Given the description of an element on the screen output the (x, y) to click on. 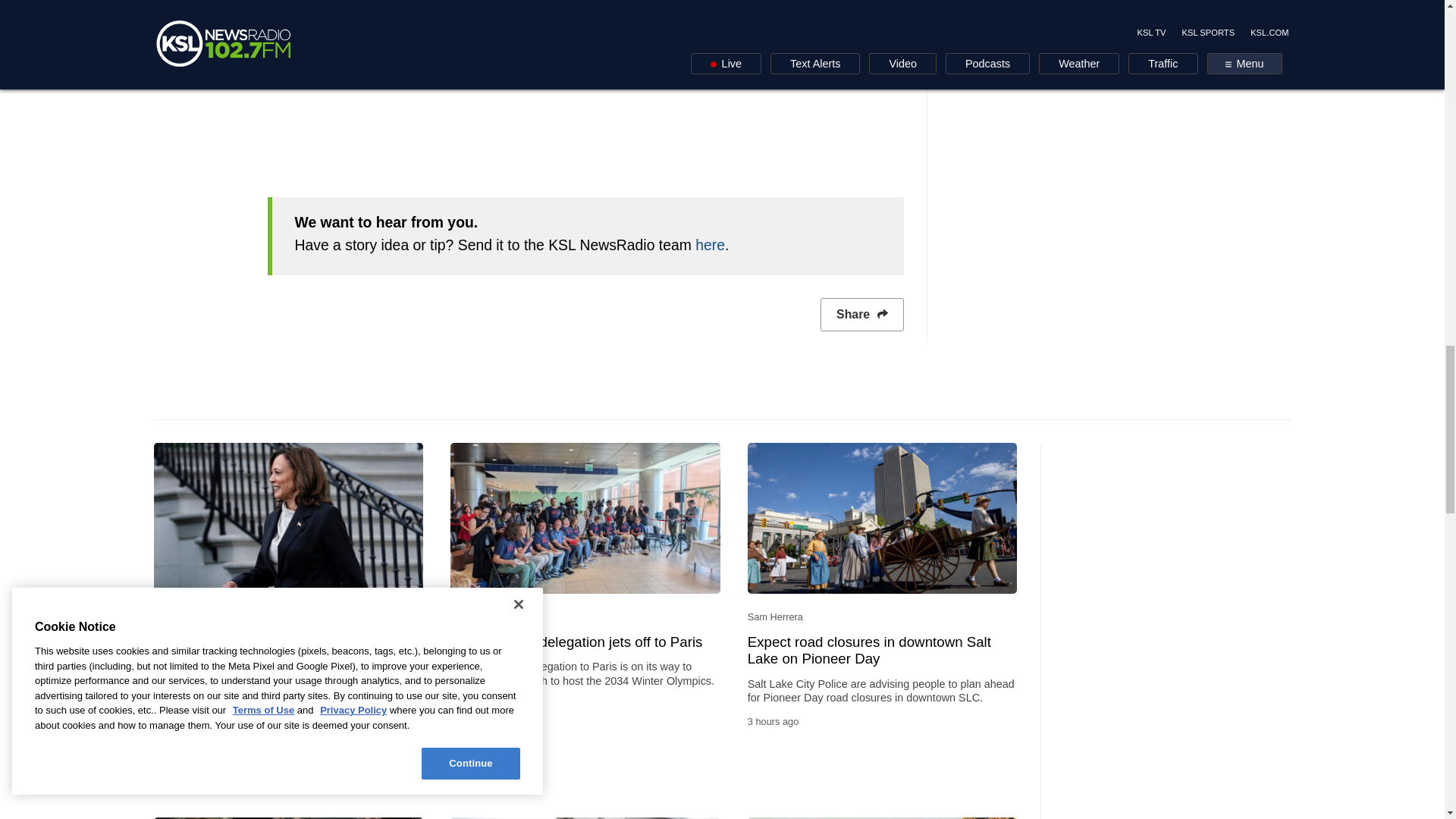
Signup Widget Embed (584, 84)
